Given the description of an element on the screen output the (x, y) to click on. 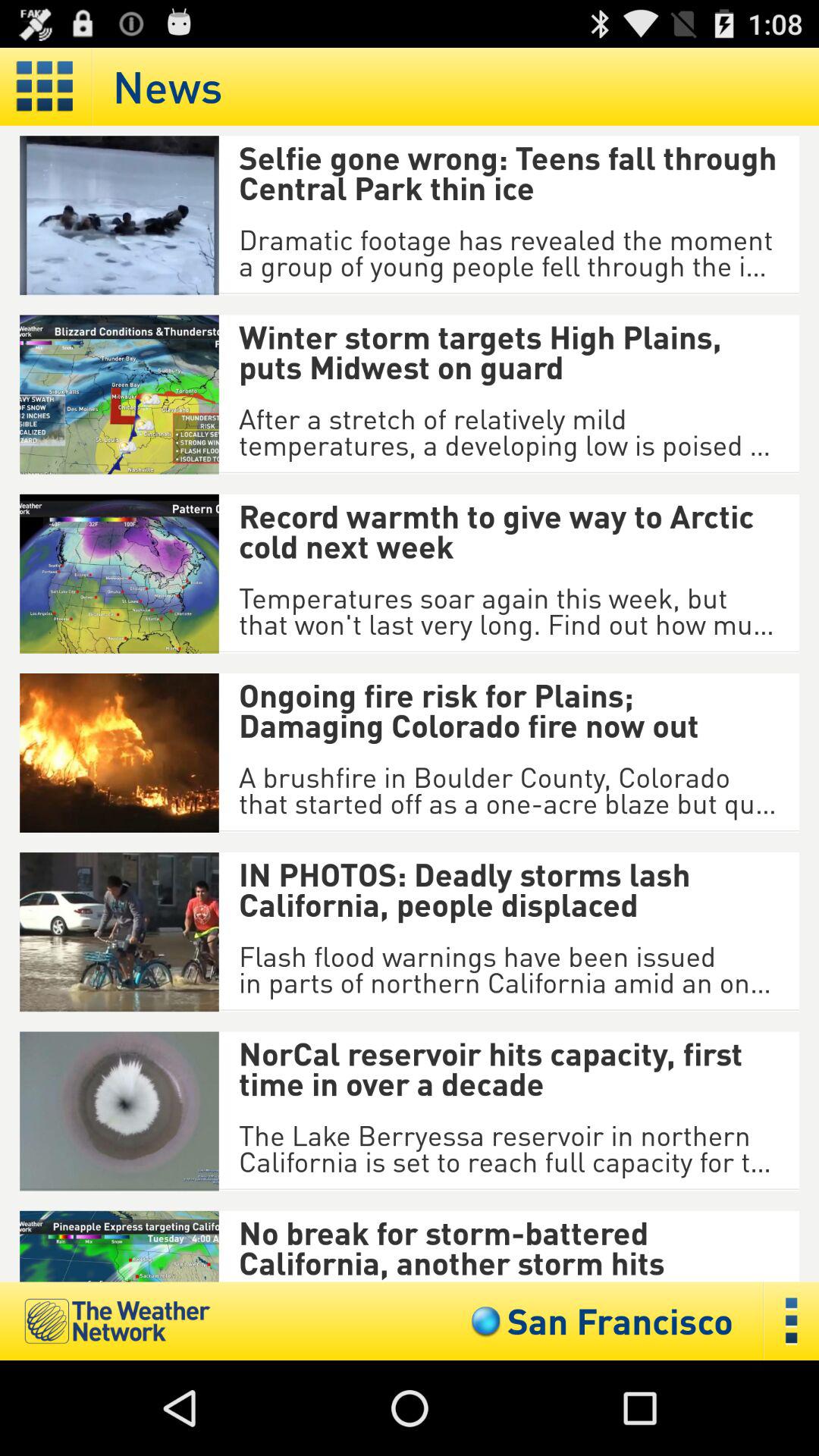
open menu (45, 86)
